Given the description of an element on the screen output the (x, y) to click on. 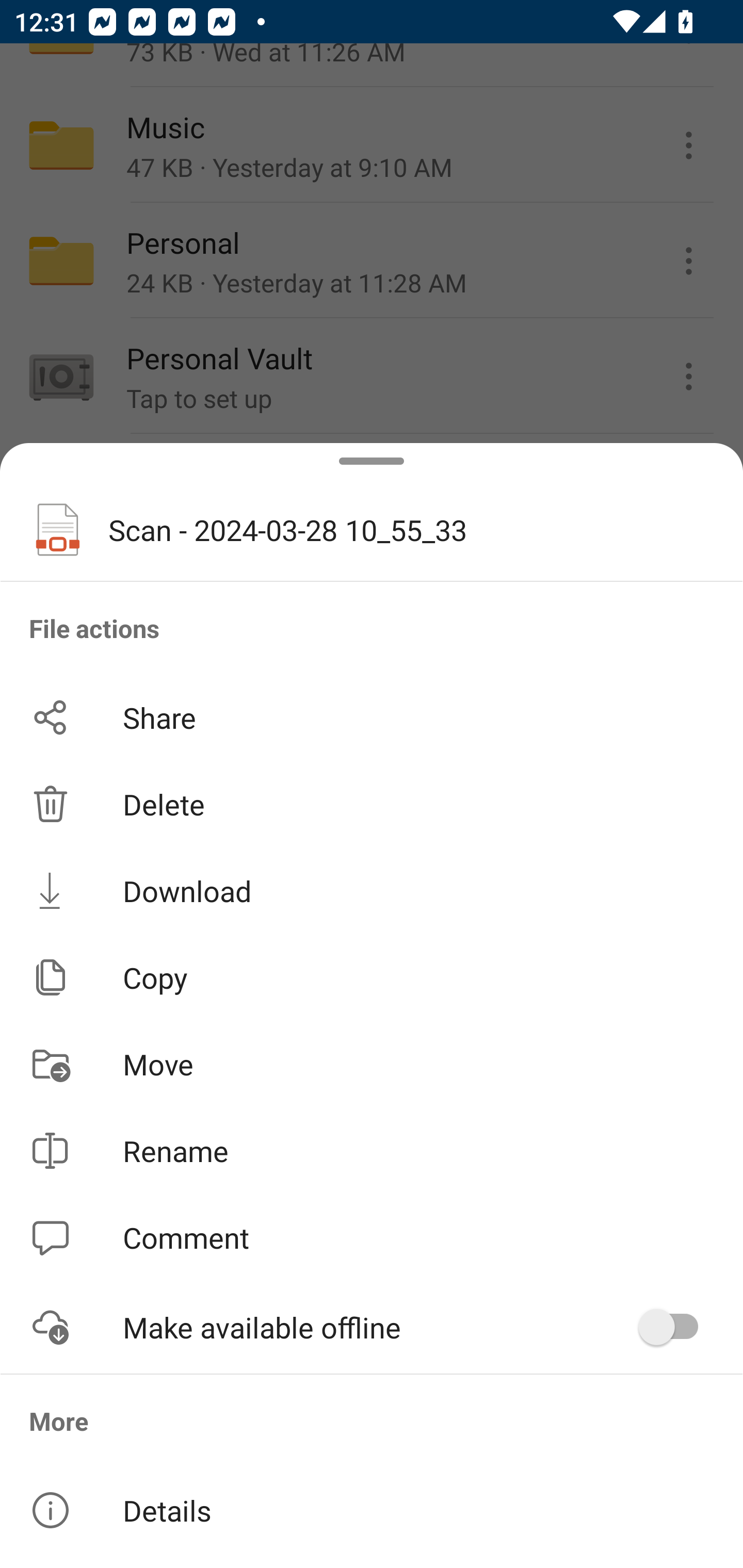
Share button Share (371, 717)
Delete button Delete (371, 803)
Download button Download (371, 890)
Copy button Copy (371, 977)
Move button Move (371, 1063)
Rename button Rename (371, 1150)
Comment button Comment (371, 1237)
Make offline operation (674, 1327)
Details button Details (371, 1510)
